Given the description of an element on the screen output the (x, y) to click on. 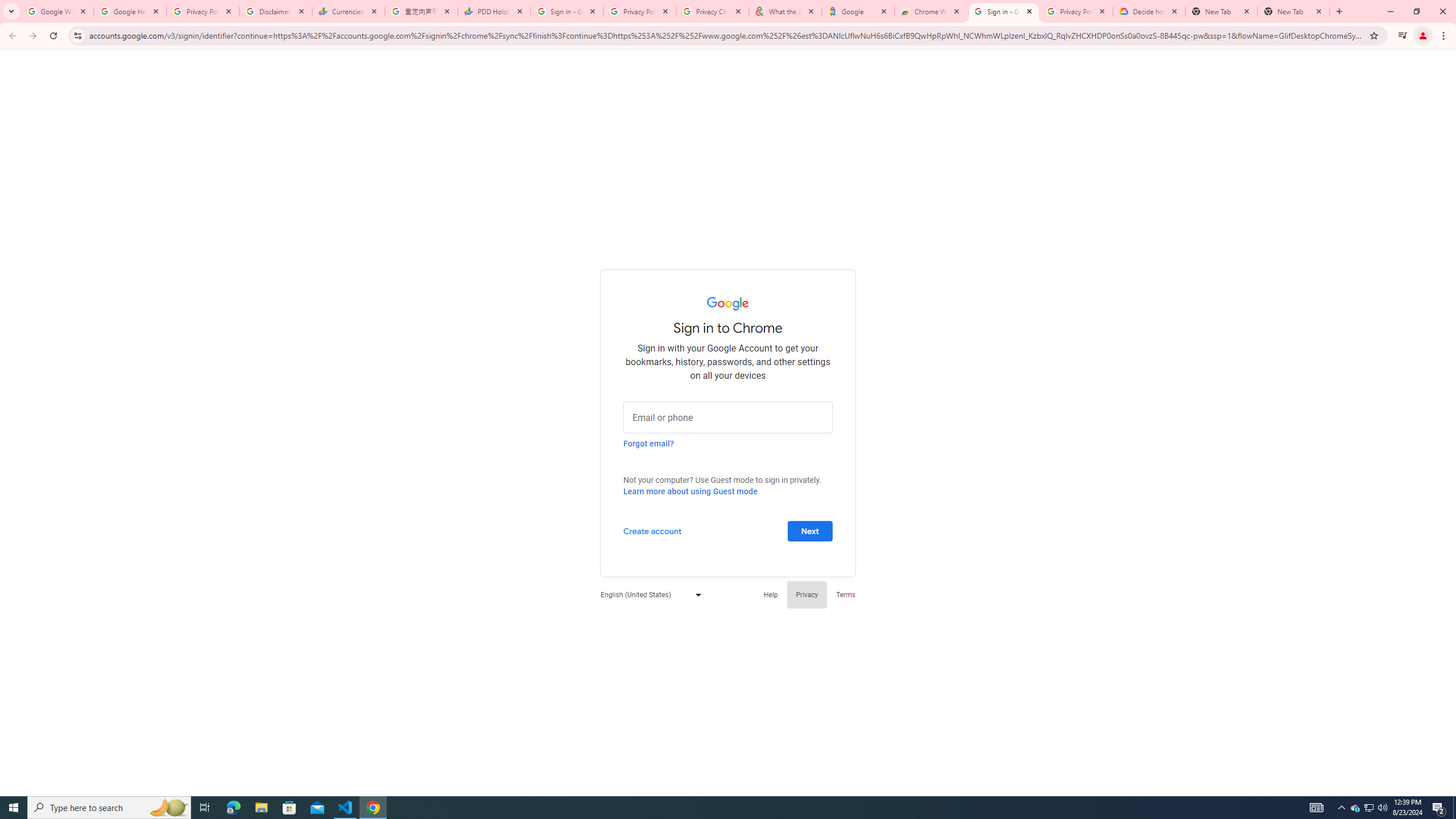
Email or phone (727, 416)
Google (857, 11)
Sign in - Google Accounts (1003, 11)
PDD Holdings Inc - ADR (PDD) Price & News - Google Finance (493, 11)
